Given the description of an element on the screen output the (x, y) to click on. 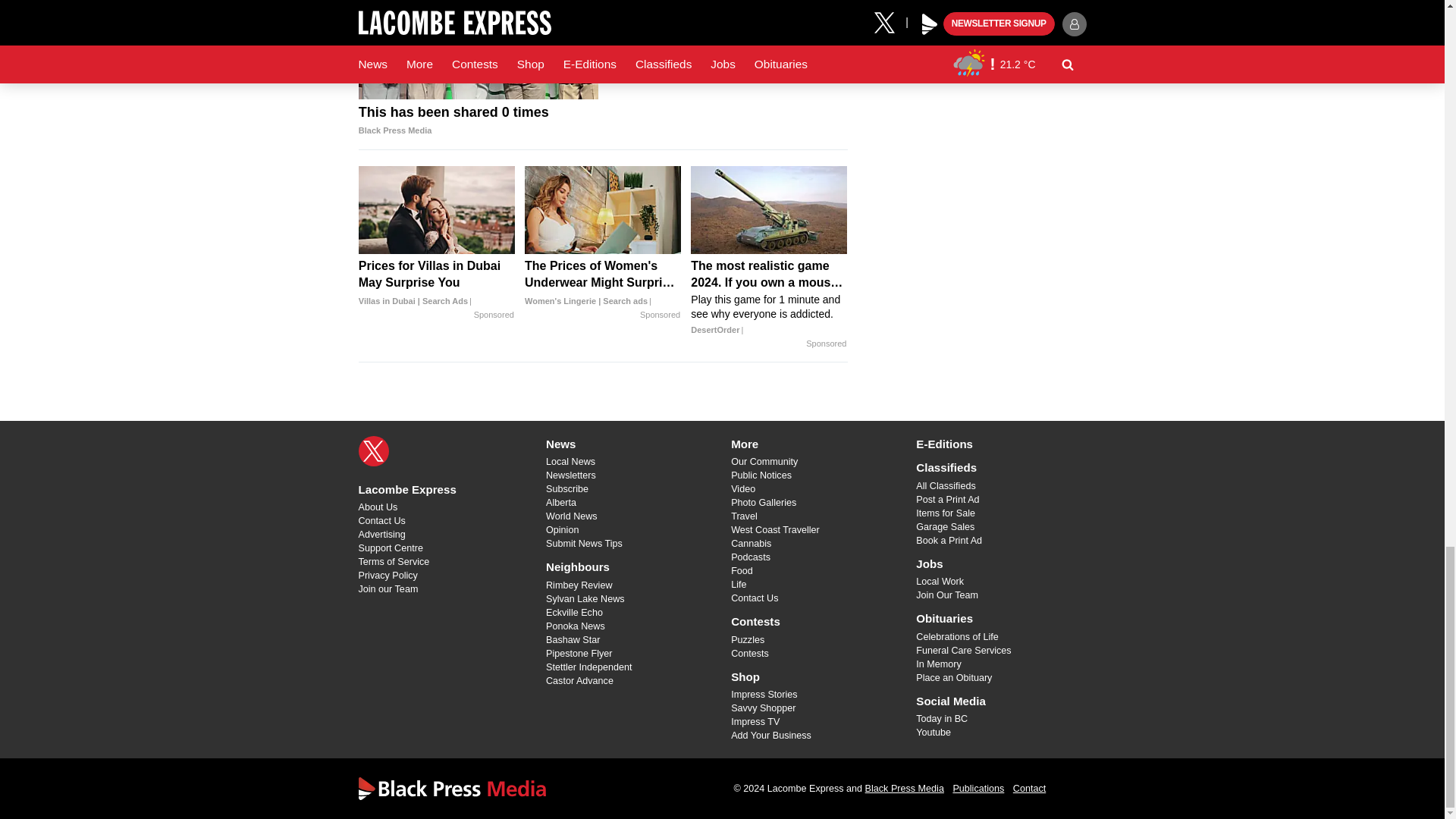
Prices for Villas in Dubai May Surprise You (436, 283)
Prices for Villas in Dubai May Surprise You (436, 209)
The Prices of Women's Underwear Might Surprise You (602, 209)
This has been shared 0 times (478, 49)
This has been shared 0 times (478, 121)
The Prices of Women's Underwear Might Surprise You (602, 283)
